Given the description of an element on the screen output the (x, y) to click on. 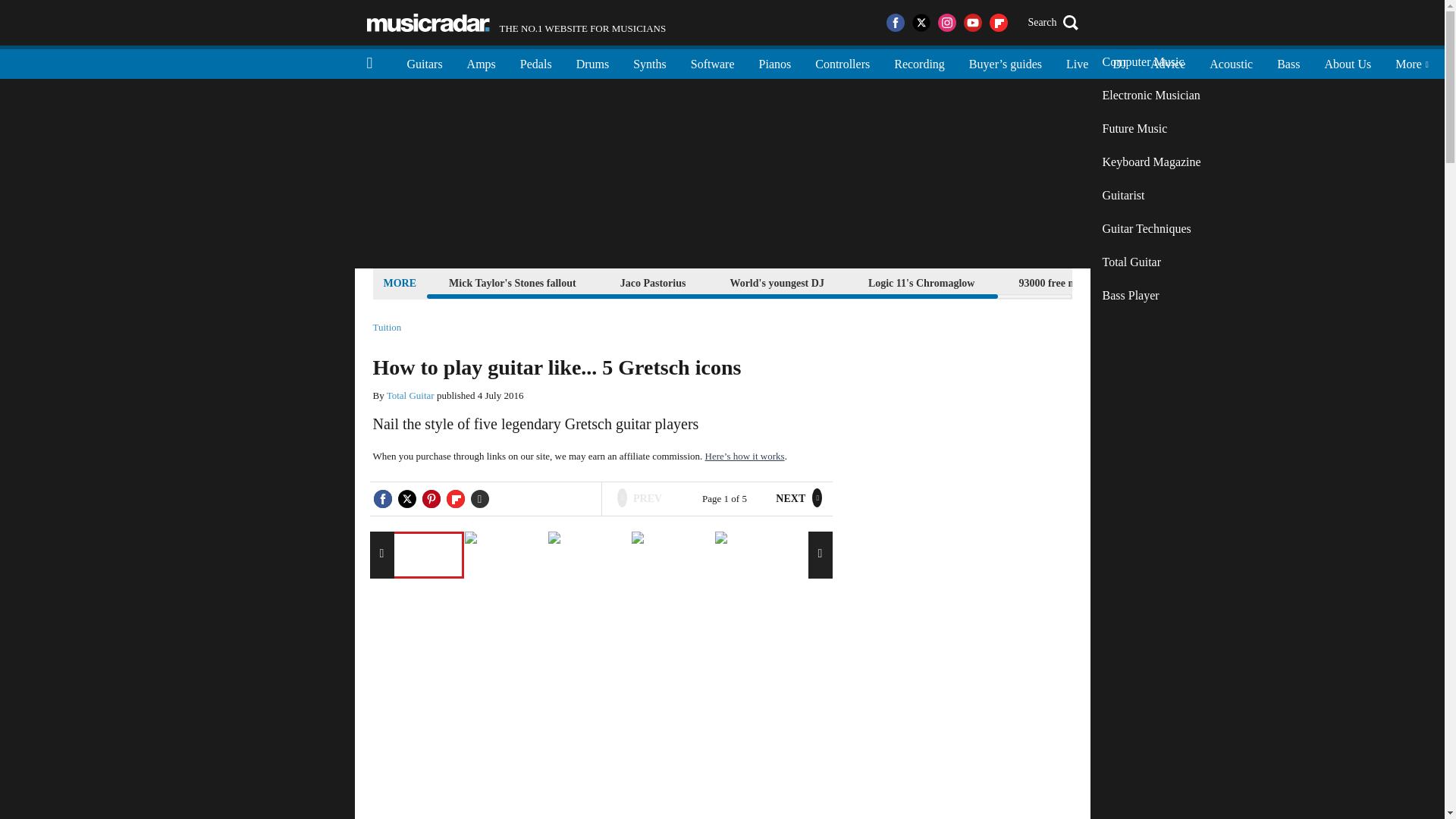
Future Music (1151, 128)
Live (1077, 61)
Amps (481, 61)
Keyboard Magazine (1151, 162)
Recording (919, 61)
Synths (649, 61)
Mick Taylor's Stones fallout (512, 282)
Pedals (536, 61)
DJ (1119, 61)
Controllers (842, 61)
Bass Player (1151, 295)
Tuition (386, 327)
Electronic Musician (1151, 95)
Drums (592, 61)
Logic 11's Chromaglow (921, 282)
